Given the description of an element on the screen output the (x, y) to click on. 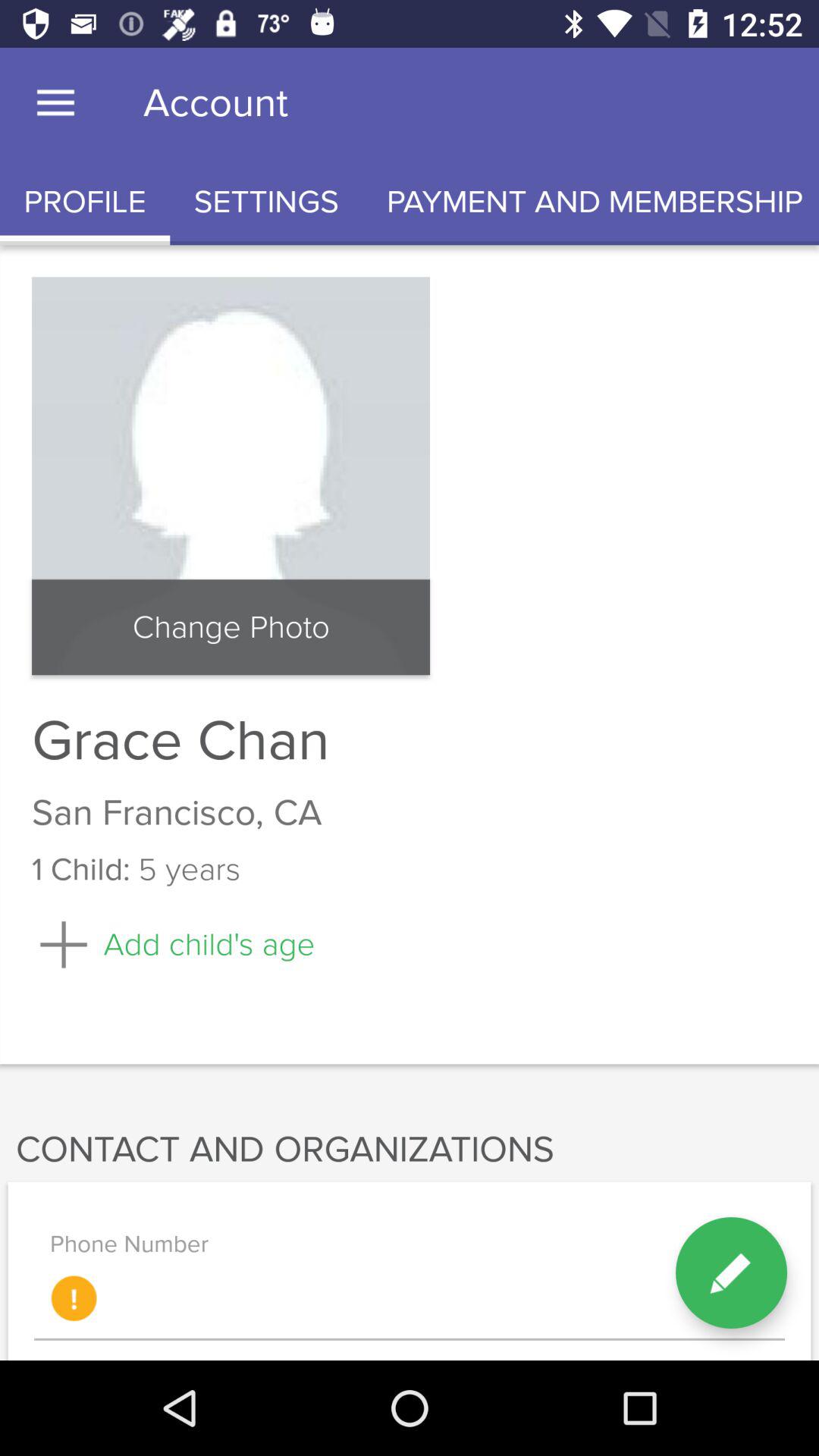
launch the item above profile (55, 103)
